Given the description of an element on the screen output the (x, y) to click on. 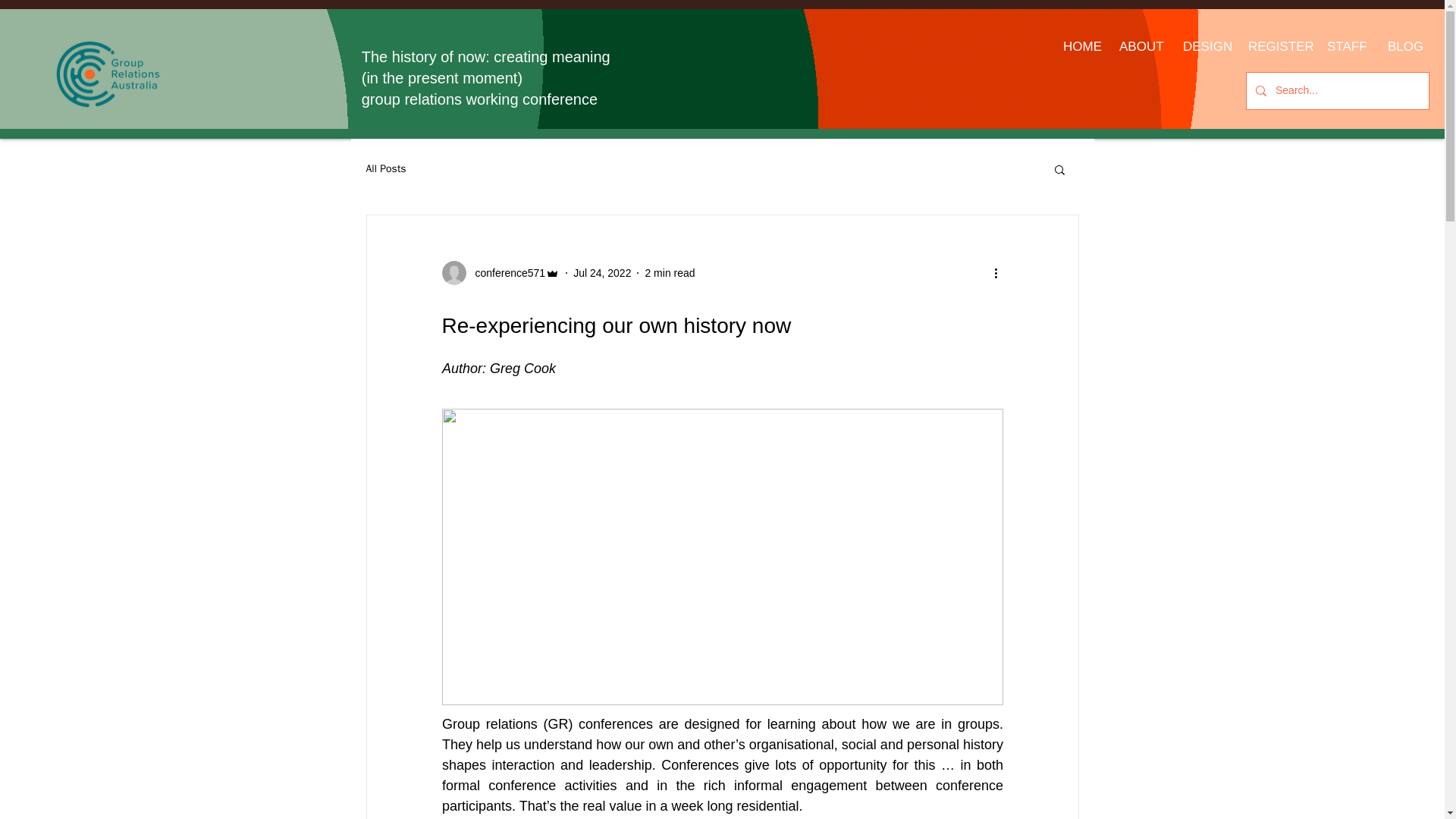
BLOG (1403, 46)
REGISTER (1276, 46)
ABOUT (1140, 46)
DESIGN (1204, 46)
STAFF (1345, 46)
GRA Logo.png (107, 73)
All Posts (385, 169)
conference571 (500, 273)
2 min read (669, 272)
conference571 (504, 273)
Jul 24, 2022 (601, 272)
HOME (1079, 46)
